Given the description of an element on the screen output the (x, y) to click on. 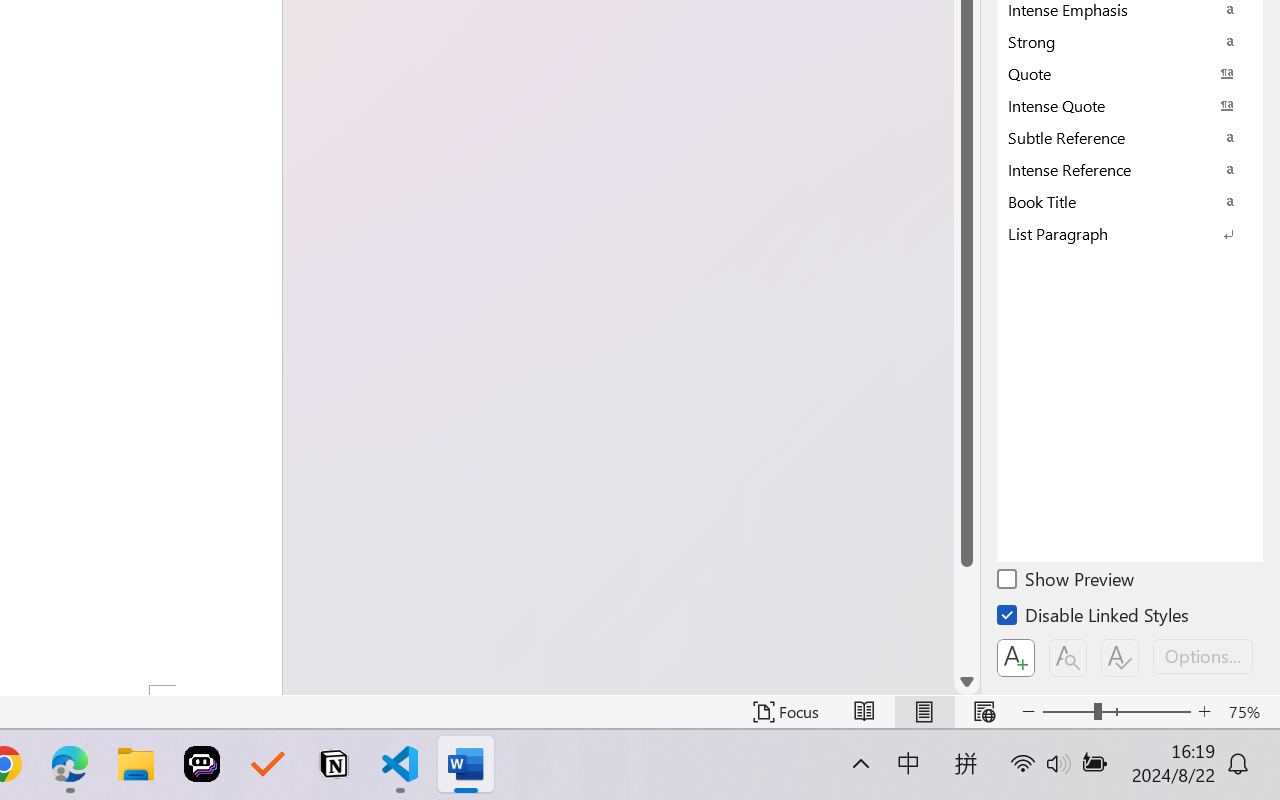
Quote (1130, 73)
Strong (1130, 41)
Subtle Reference (1130, 137)
Options... (1203, 656)
